Given the description of an element on the screen output the (x, y) to click on. 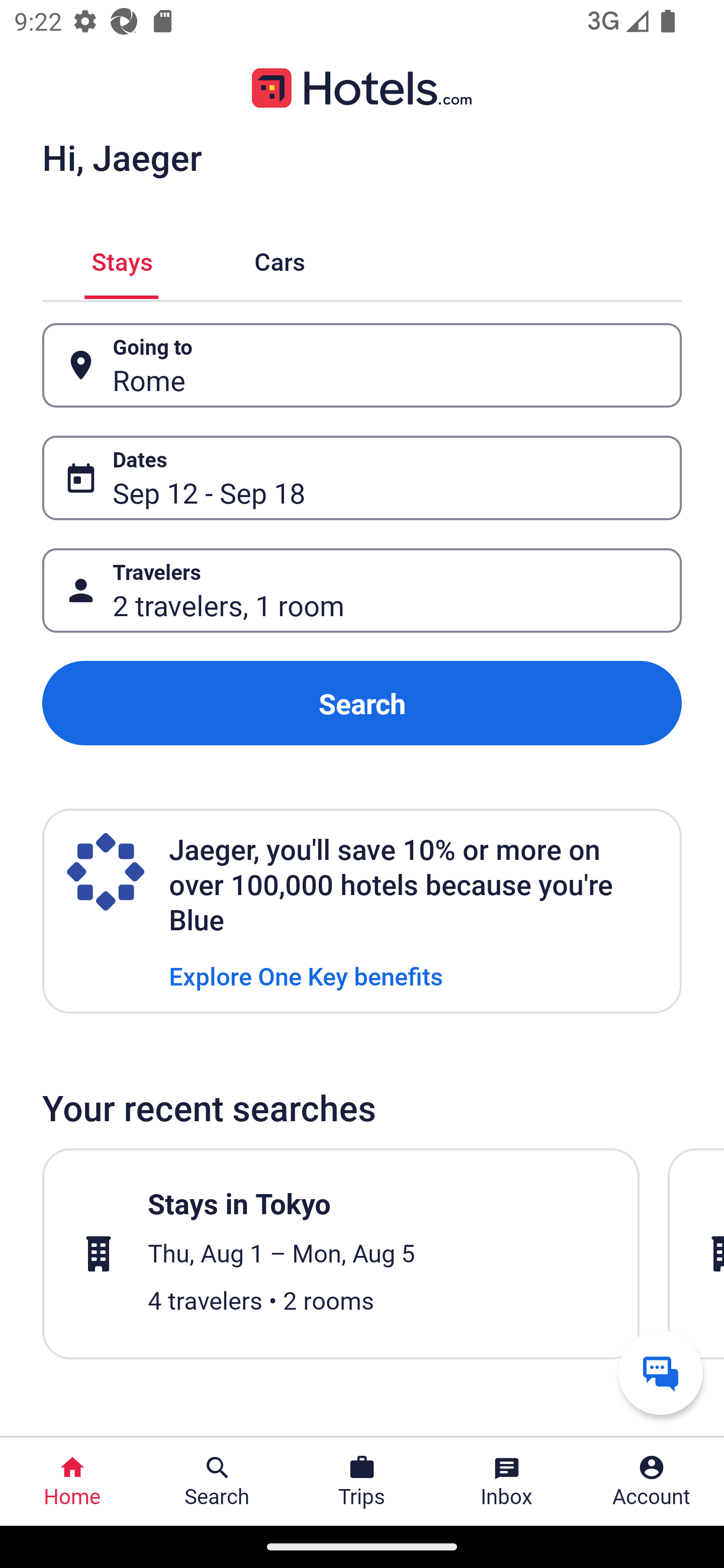
Hi, Jaeger (121, 156)
Cars (279, 259)
Going to Button Rome (361, 365)
Dates Button Sep 12 - Sep 18 (361, 477)
Travelers Button 2 travelers, 1 room (361, 590)
Search (361, 702)
Get help from a virtual agent (660, 1371)
Search Search Button (216, 1481)
Trips Trips Button (361, 1481)
Inbox Inbox Button (506, 1481)
Account Profile. Button (651, 1481)
